Given the description of an element on the screen output the (x, y) to click on. 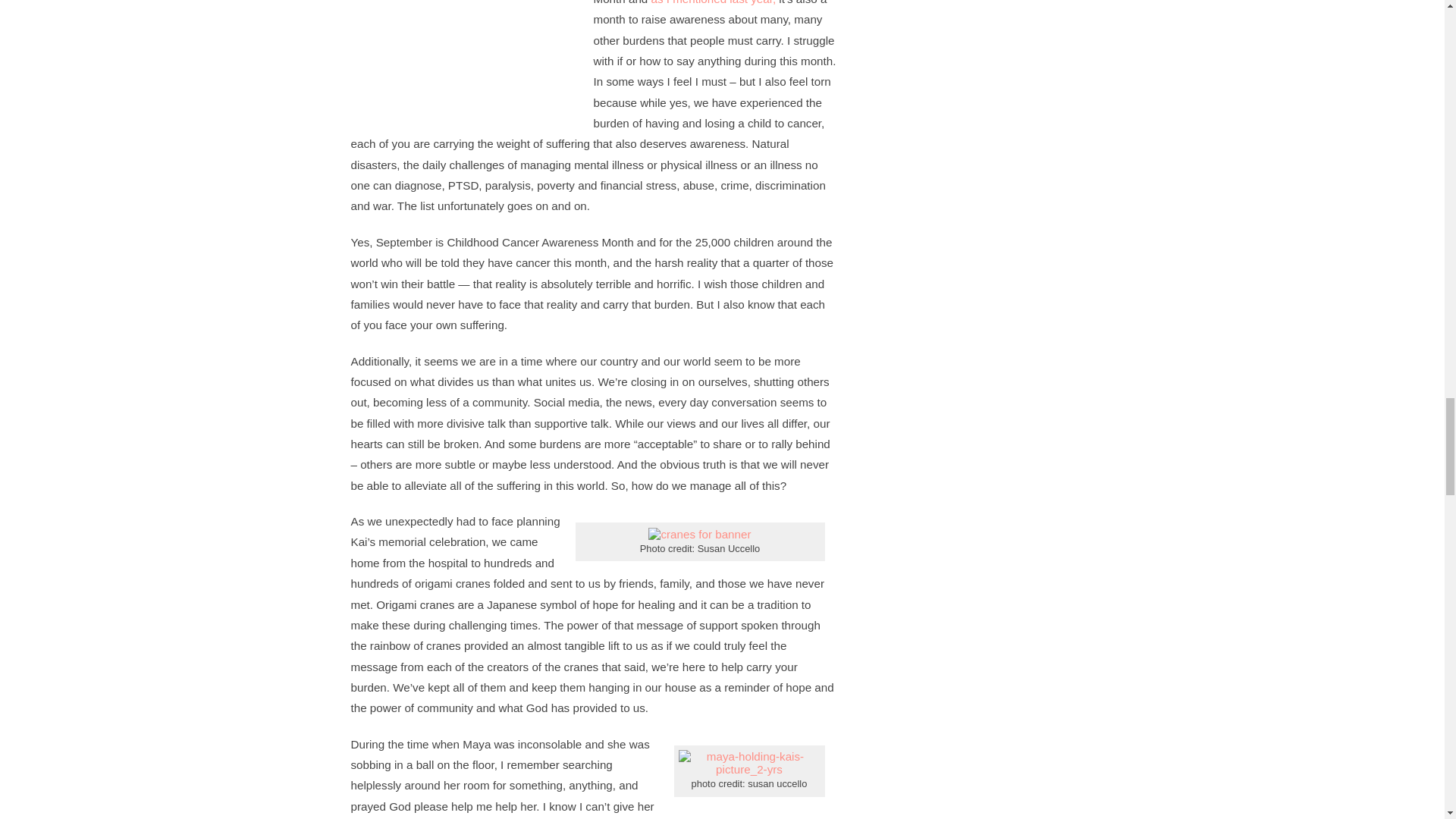
as I mentioned last year, (713, 2)
